Given the description of an element on the screen output the (x, y) to click on. 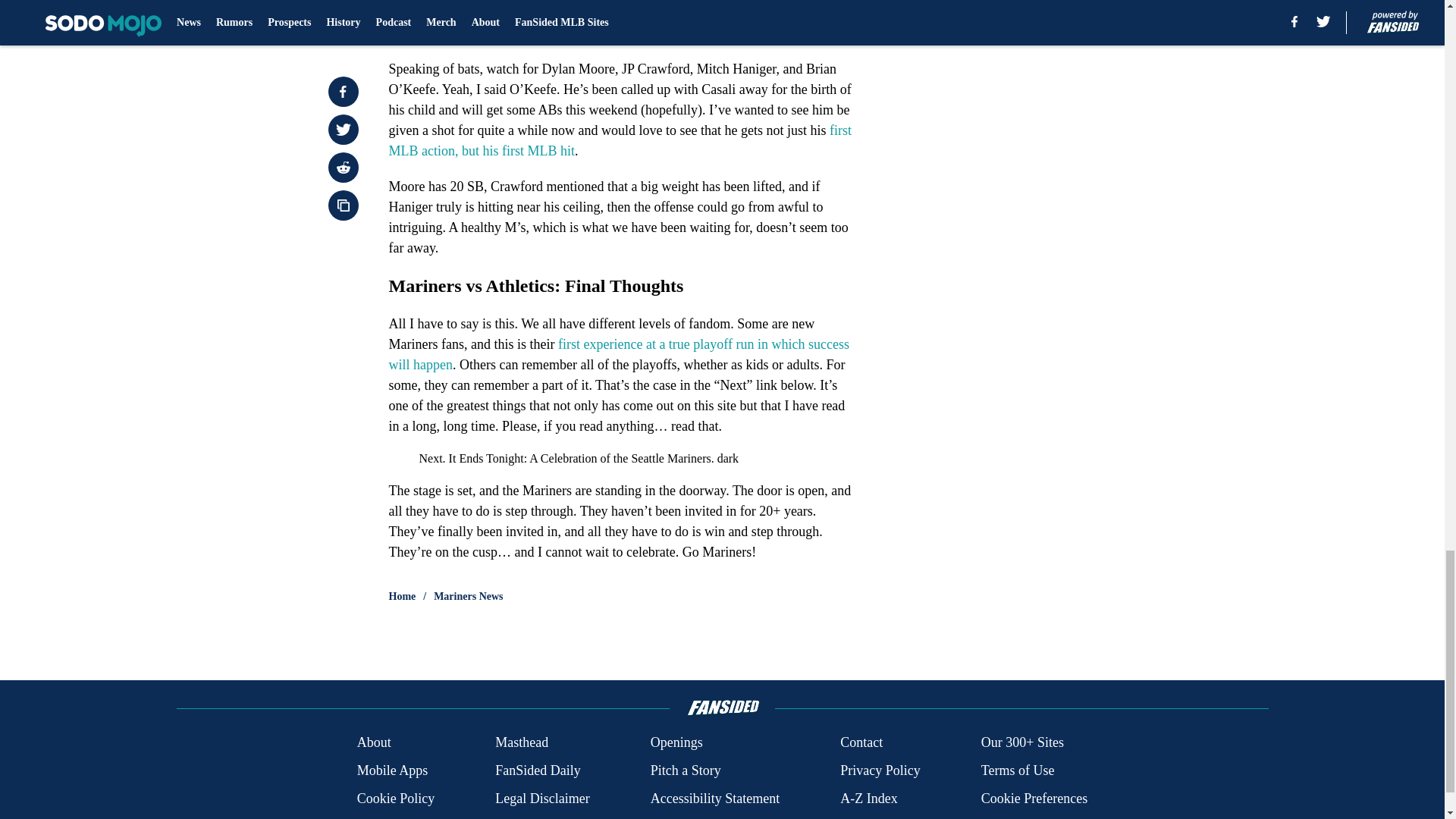
Terms of Use (1017, 770)
Contact (861, 742)
Pitch a Story (685, 770)
Home (401, 596)
Cookie Policy (395, 798)
A-Z Index (868, 798)
Mariners News (467, 596)
FanSided Daily (537, 770)
Privacy Policy (880, 770)
Masthead (521, 742)
Legal Disclaimer (542, 798)
About (373, 742)
Cookie Preferences (1034, 798)
Openings (676, 742)
